Given the description of an element on the screen output the (x, y) to click on. 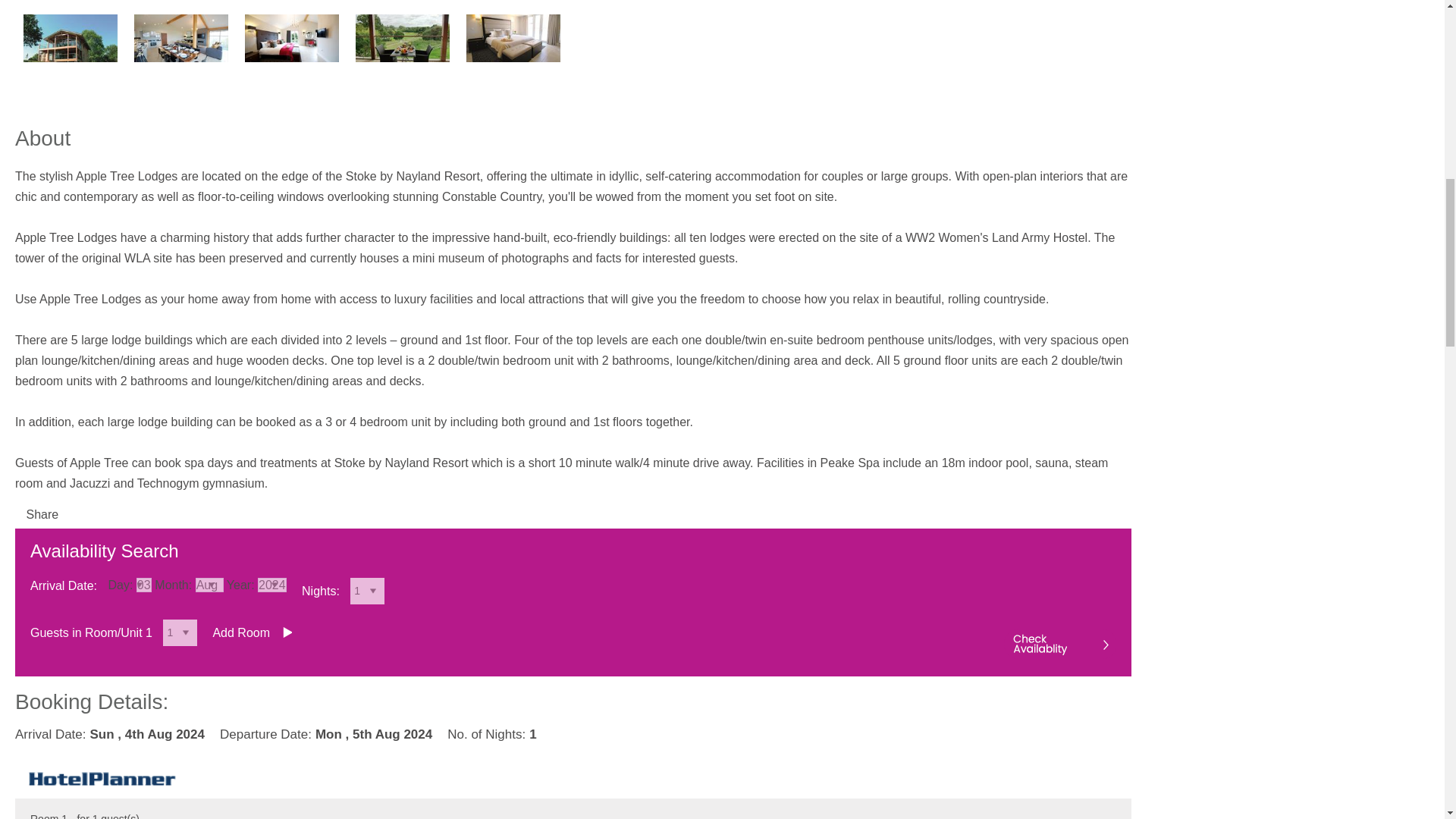
Search (1059, 644)
